Given the description of an element on the screen output the (x, y) to click on. 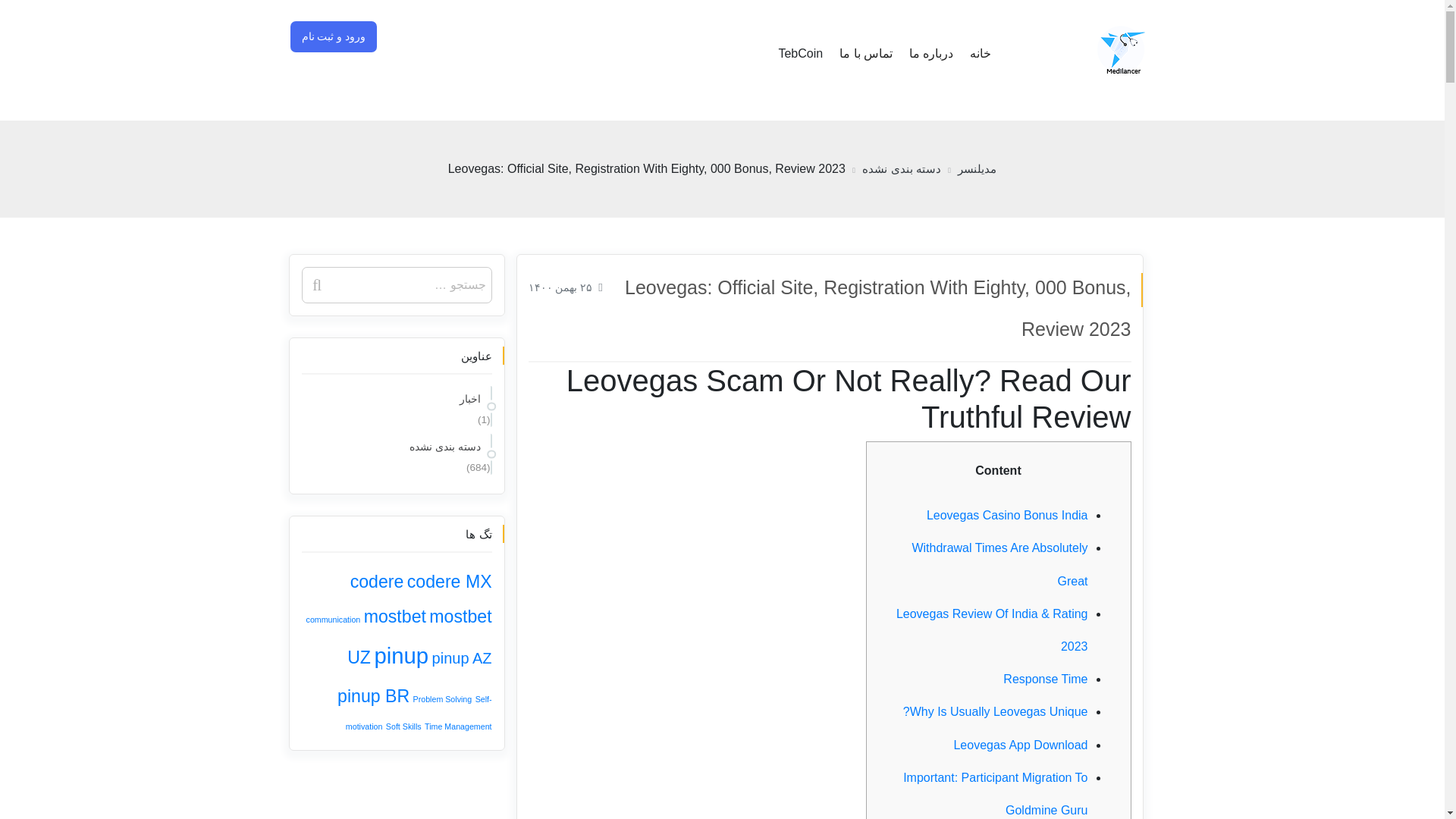
Leovegas App Download (1020, 744)
Why Is Usually Leovegas Unique? (994, 711)
Important: Participant Migration To Goldmine Guru (994, 793)
Withdrawal Times Are Absolutely Great (999, 564)
Response Time (1045, 678)
TebCoin (799, 54)
Leovegas Casino Bonus India (1006, 514)
